Given the description of an element on the screen output the (x, y) to click on. 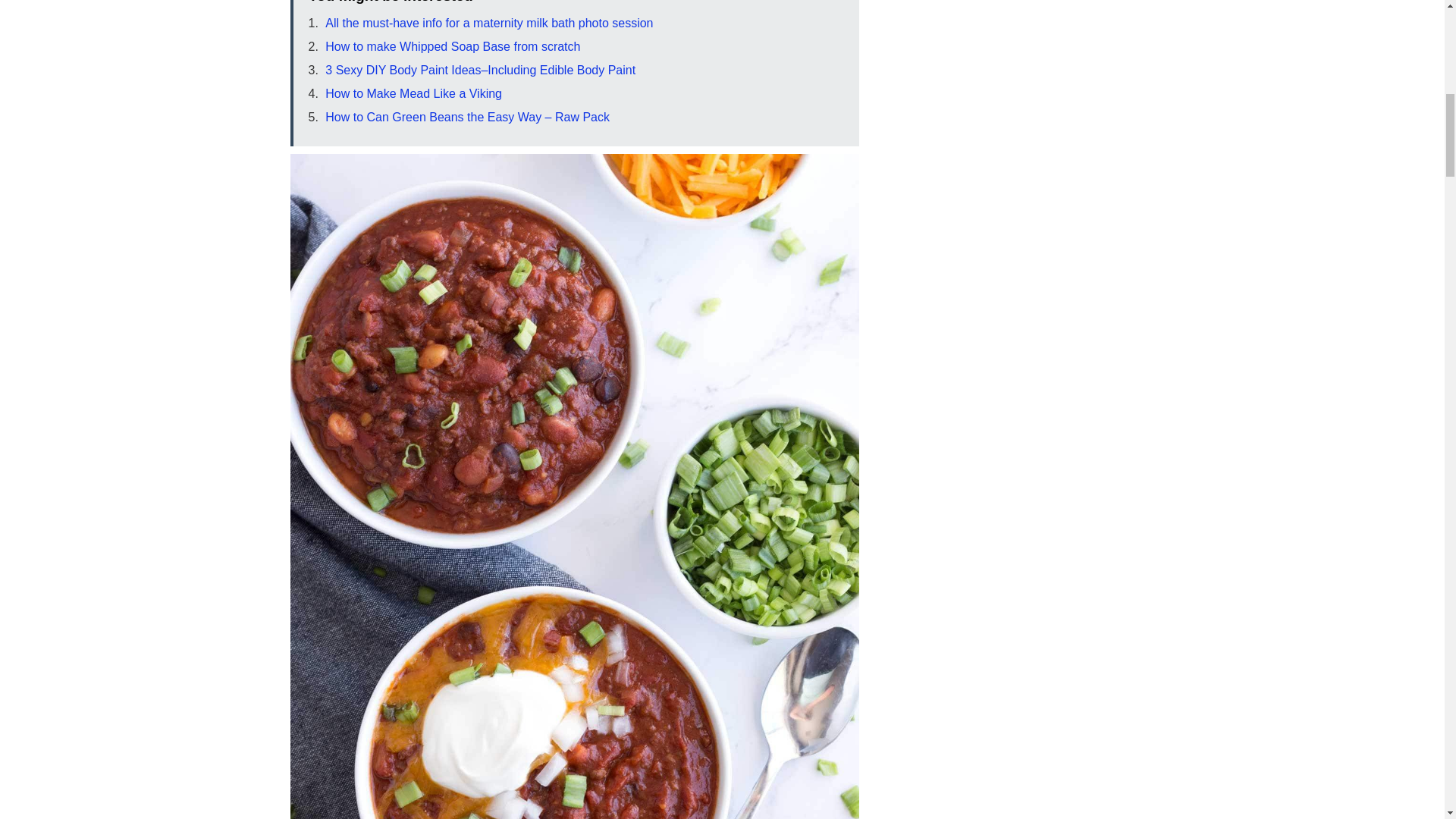
How to make Whipped Soap Base from scratch (451, 46)
How to Make Mead Like a Viking (413, 92)
How to make Whipped Soap Base from scratch (451, 46)
How to Make Mead Like a Viking (413, 92)
